Given the description of an element on the screen output the (x, y) to click on. 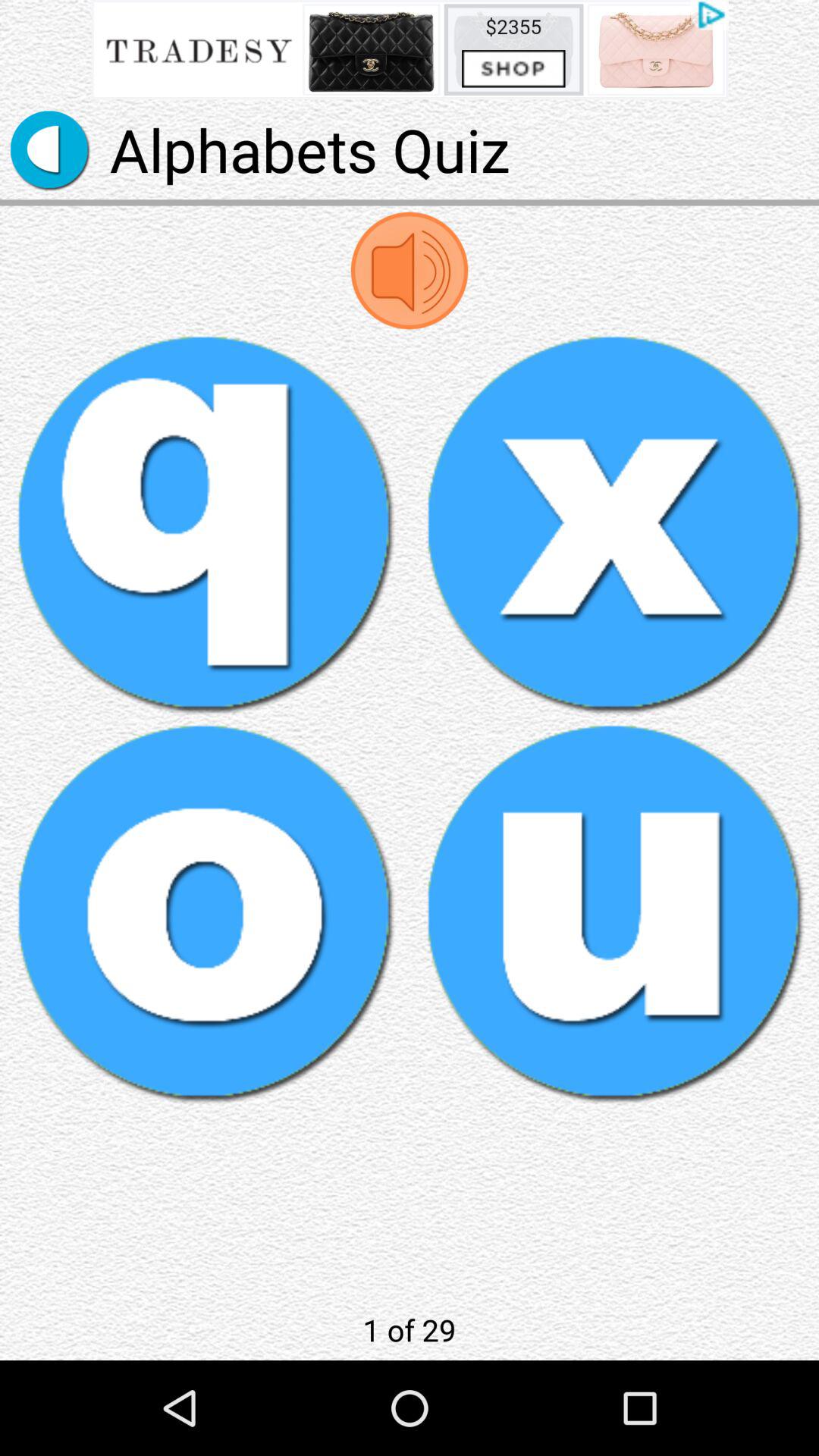
select letter x (614, 523)
